Given the description of an element on the screen output the (x, y) to click on. 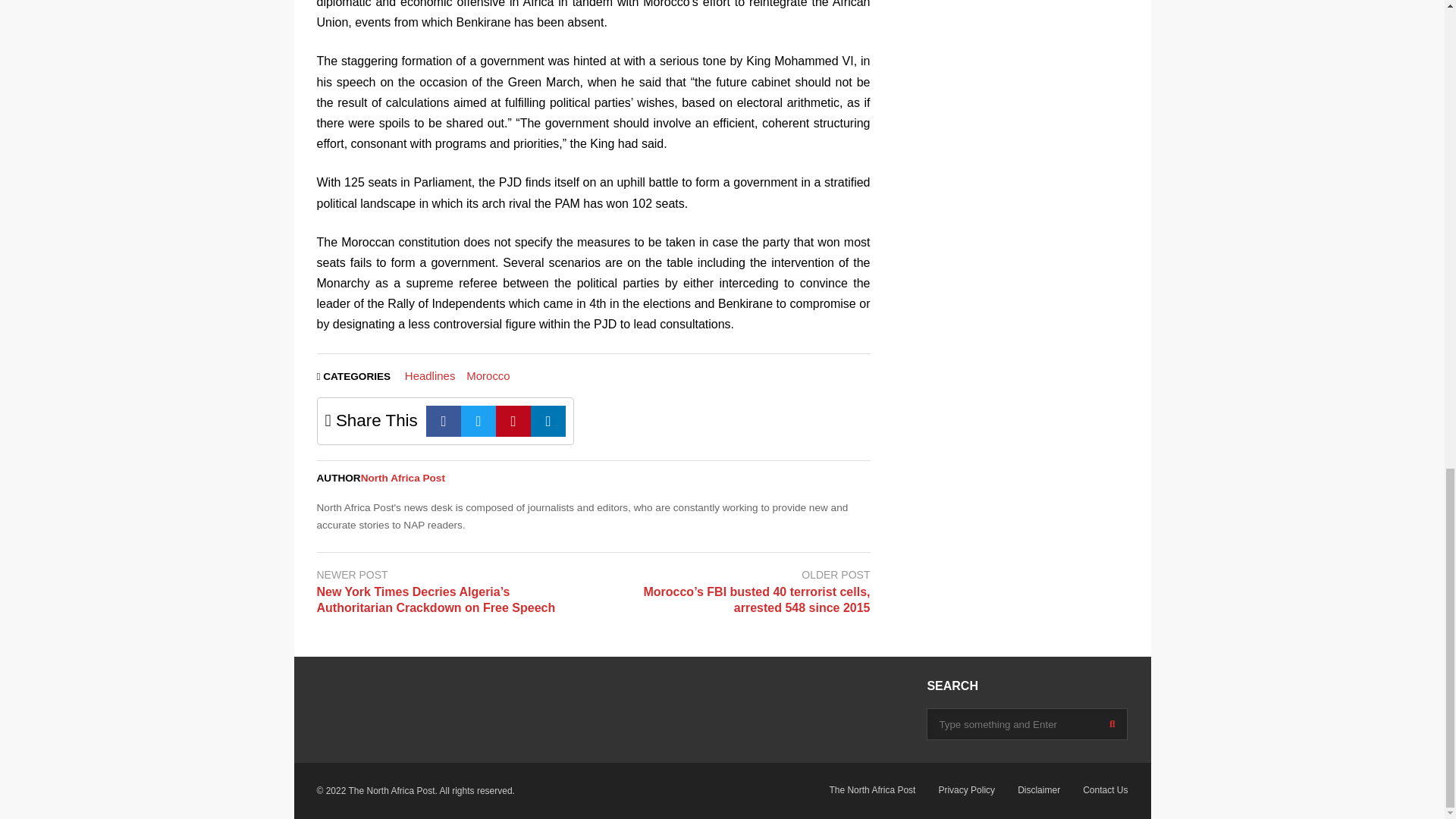
Linkedin (548, 420)
Facebook (443, 420)
Twitter (478, 420)
Pinterest (513, 420)
